Given the description of an element on the screen output the (x, y) to click on. 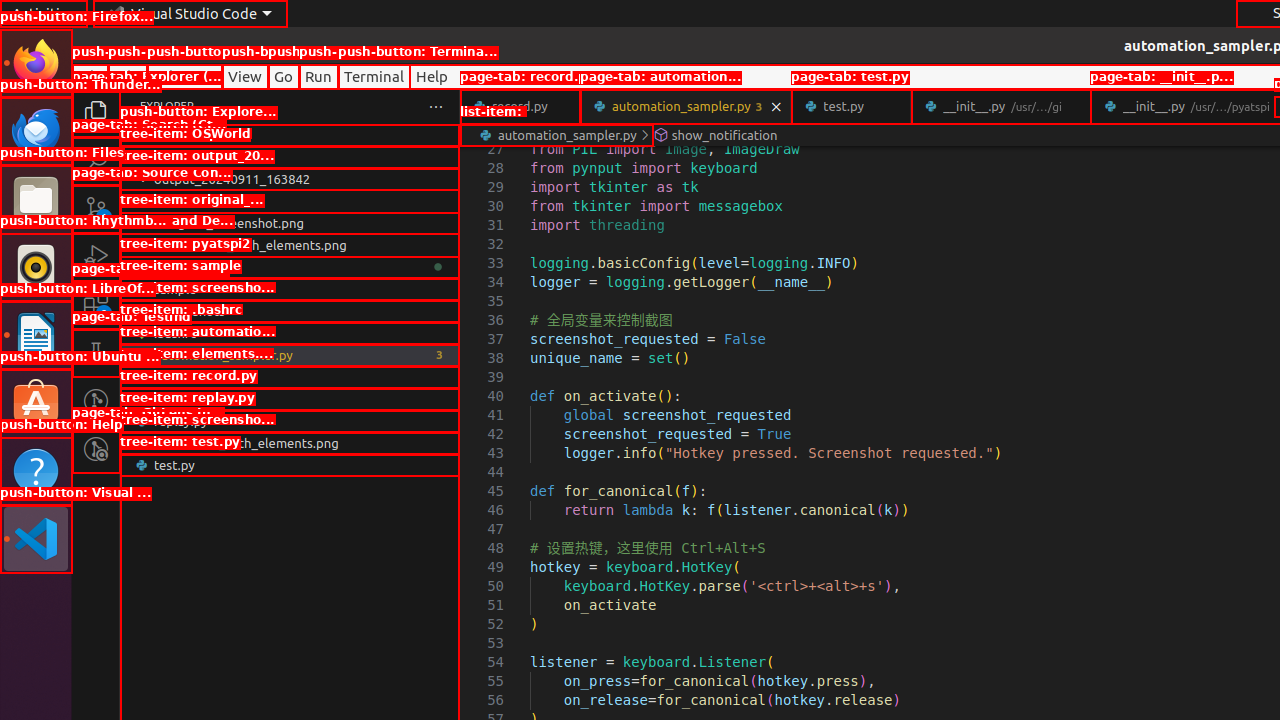
pyatspi2 Element type: tree-item (289, 267)
record.py Element type: tree-item (289, 399)
screenshots Element type: tree-item (289, 311)
Explorer Section: osworld Element type: push-button (289, 135)
